Given the description of an element on the screen output the (x, y) to click on. 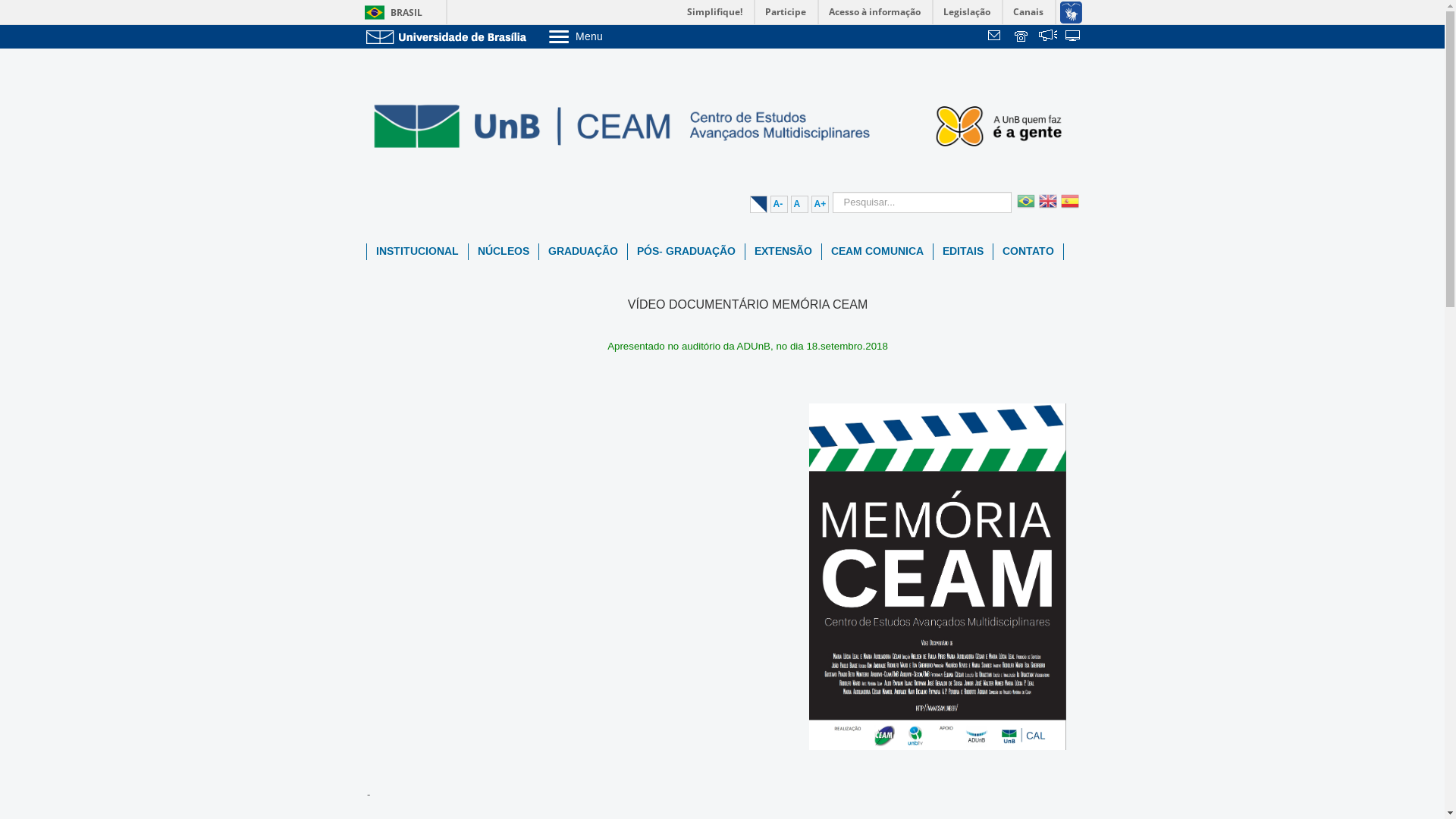
Menu Element type: text (613, 35)
INSTITUCIONAL Element type: text (417, 251)
Portuguese Element type: hover (1024, 209)
  Element type: text (1073, 37)
Sistemas Element type: hover (1073, 37)
Telefones da UnB Element type: hover (1022, 37)
CONTATO Element type: text (1028, 251)
A Element type: text (798, 204)
  Element type: text (996, 37)
A- Element type: text (778, 204)
BRASIL Element type: text (389, 12)
Fala.BR Element type: hover (1047, 37)
A+ Element type: text (819, 204)
English Element type: hover (1045, 209)
  Element type: text (1047, 37)
  Element type: text (1022, 37)
Ir para o Portal da UnB Element type: hover (448, 36)
CEAM COMUNICA Element type: text (877, 251)
Webmail Element type: hover (996, 37)
Spanish Element type: hover (1068, 209)
EDITAIS Element type: text (961, 251)
